Given the description of an element on the screen output the (x, y) to click on. 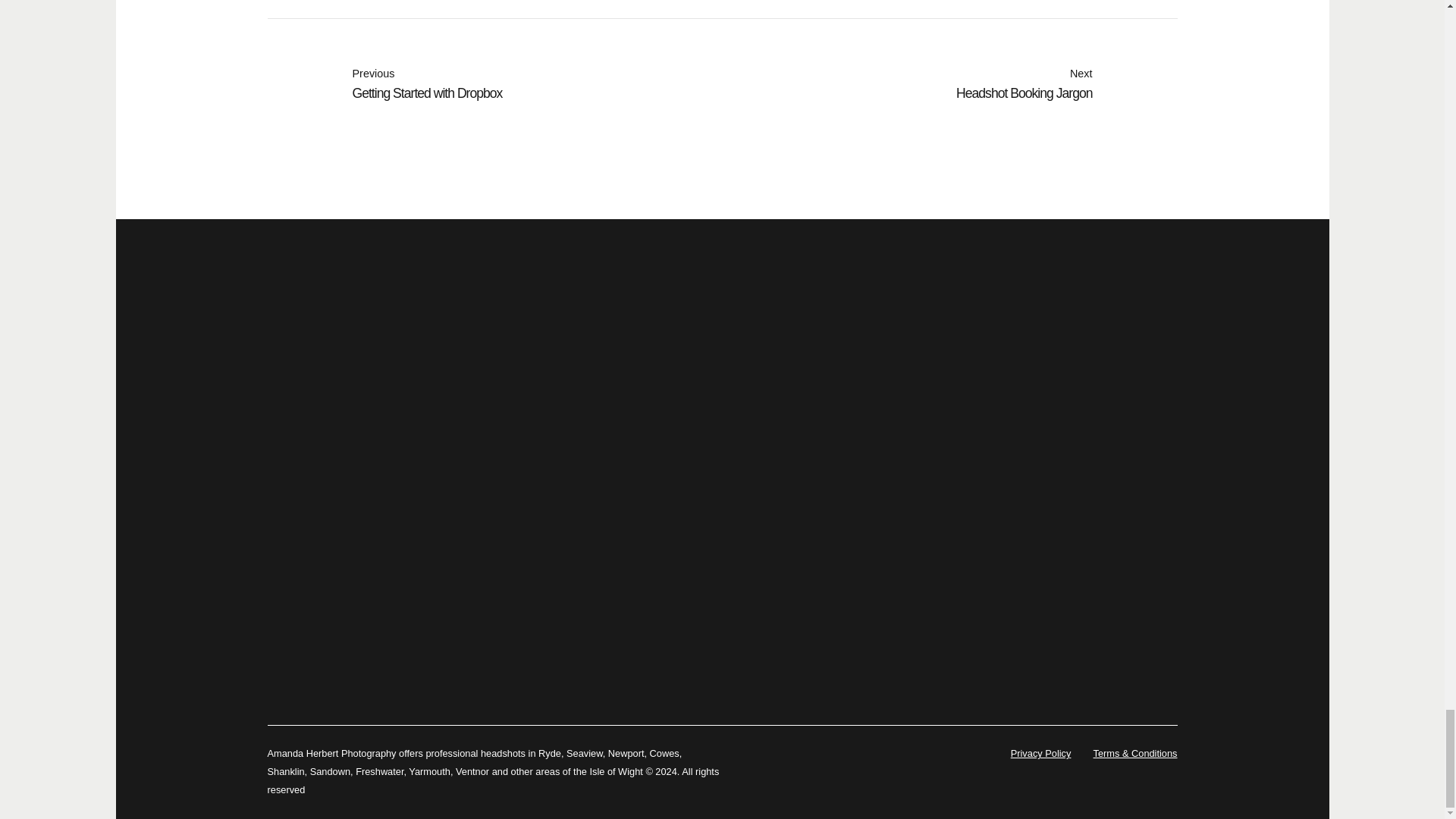
Sign up (494, 85)
